Given the description of an element on the screen output the (x, y) to click on. 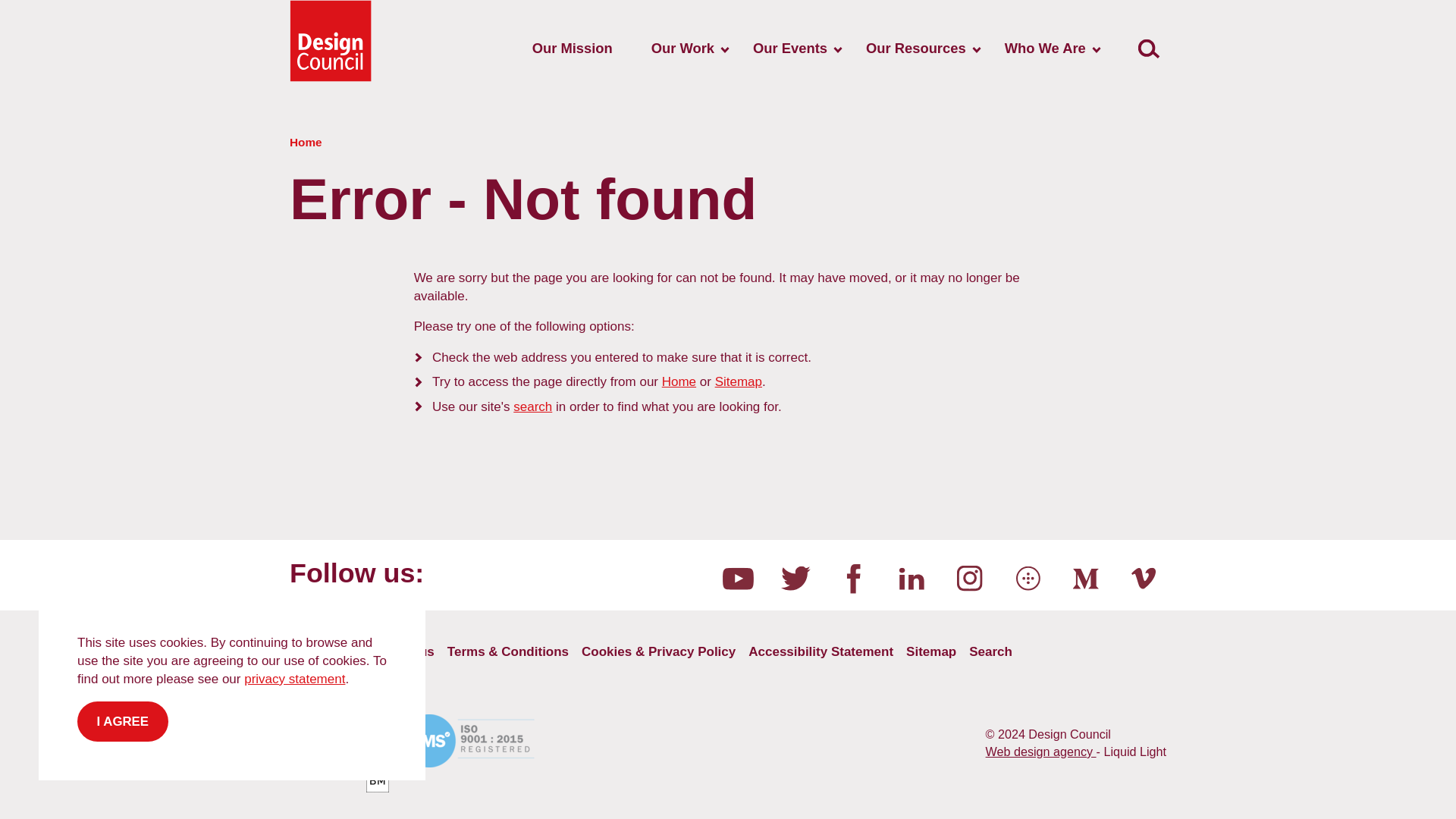
Our Resources (915, 48)
Who We Are (1045, 48)
Design Council on Medium (1085, 578)
Follow Design Council on LinkedIn (911, 578)
Design Council on Facebook (853, 578)
Design Council - Design for Planet (330, 40)
Follow Design Council on Twitter (795, 578)
Design Council on The Dots (1028, 578)
Our Work (682, 48)
Design Council on Instagram (969, 578)
Search (1148, 48)
Design Council on YouTube (737, 578)
Our Events (790, 48)
Opens internal link in current window (532, 406)
Our Mission (571, 48)
